Given the description of an element on the screen output the (x, y) to click on. 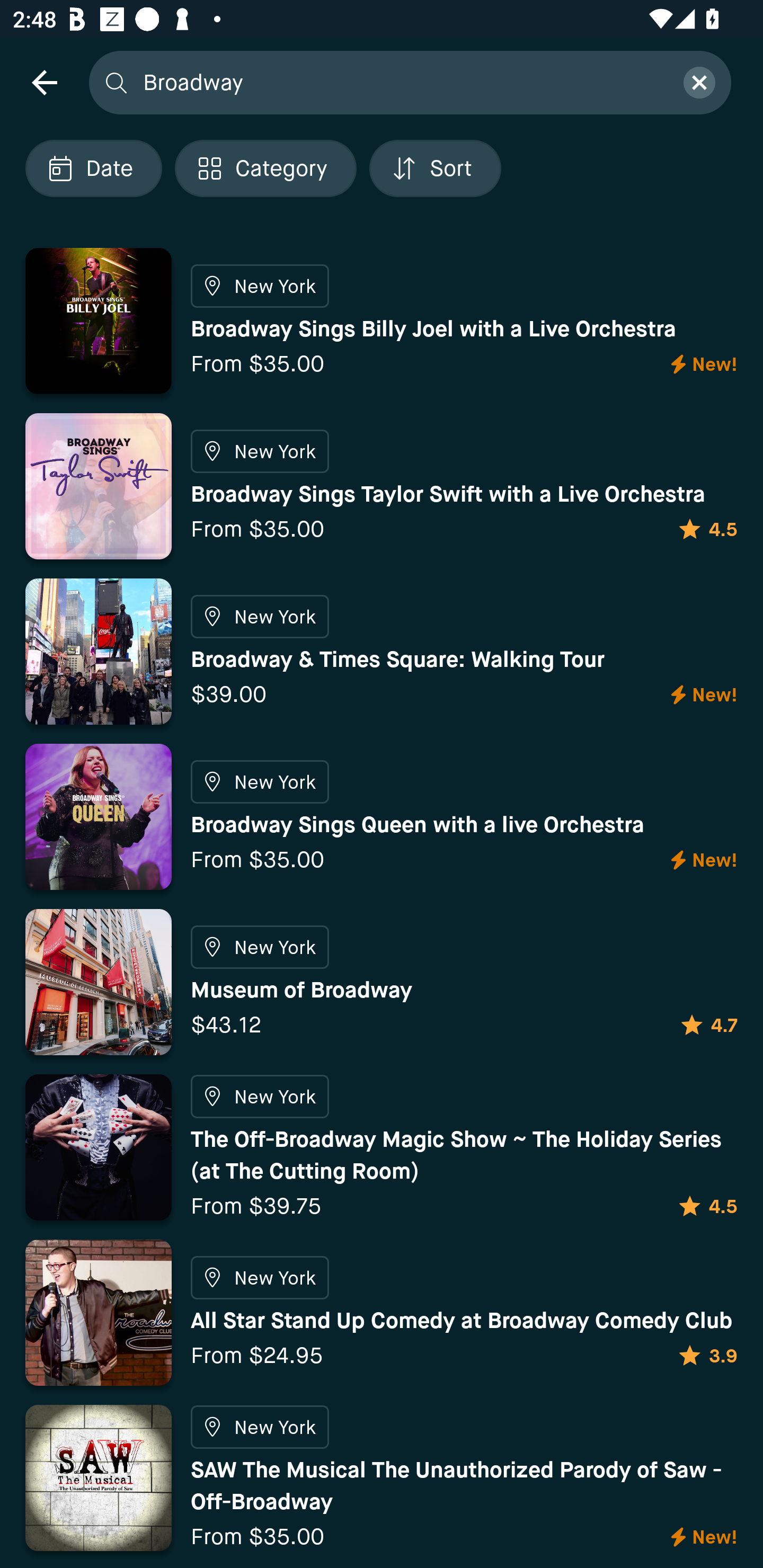
navigation icon (44, 81)
Broadway (402, 81)
Localized description Date (93, 168)
Localized description Category (265, 168)
Localized description Sort (435, 168)
